Given the description of an element on the screen output the (x, y) to click on. 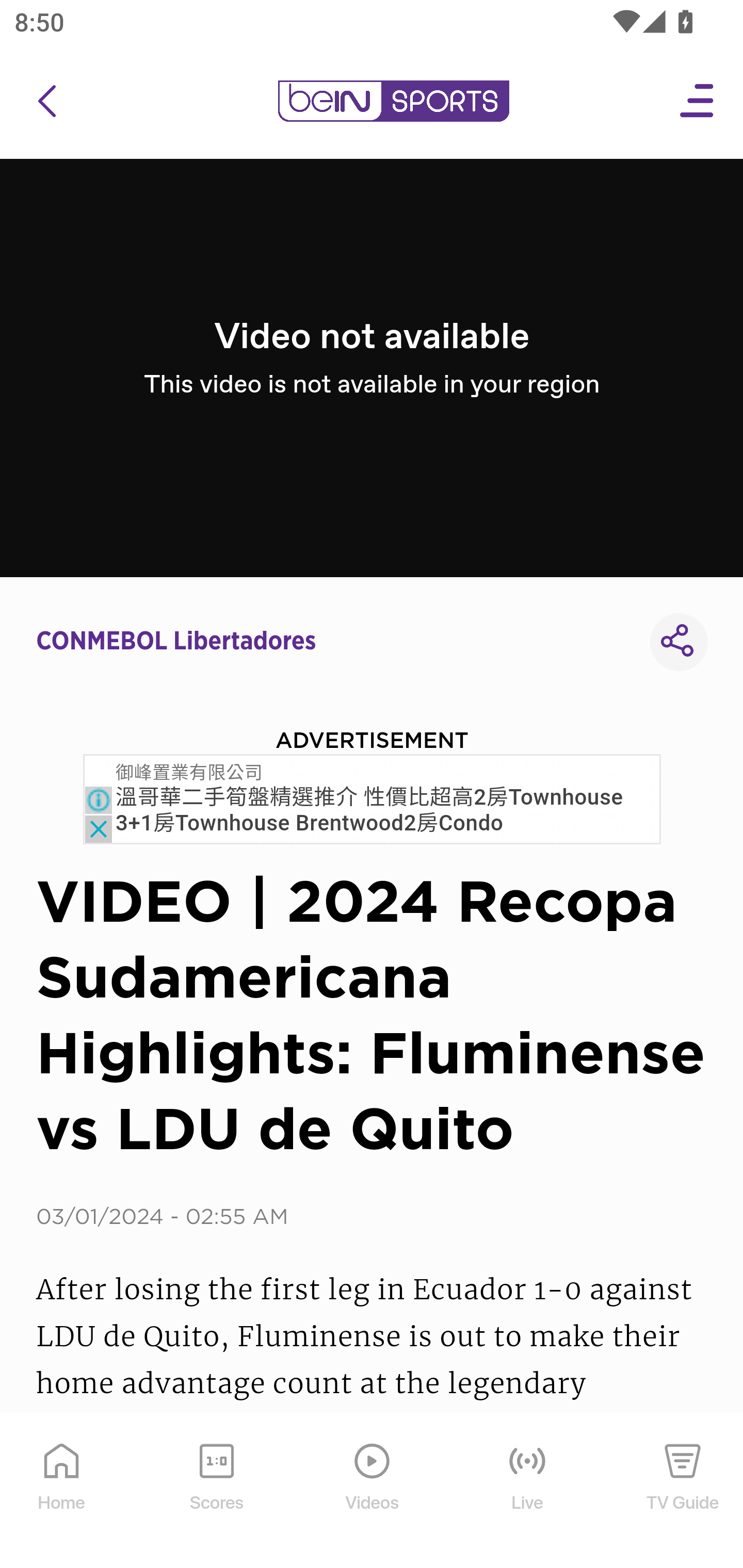
en-us?platform=mobile_android bein logo (392, 101)
icon back (46, 101)
Open Menu Icon (697, 101)
御峰置業有限公司 (189, 773)
Home Home Icon Home (61, 1491)
Scores Scores Icon Scores (216, 1491)
Videos Videos Icon Videos (372, 1491)
TV Guide TV Guide Icon TV Guide (682, 1491)
